Given the description of an element on the screen output the (x, y) to click on. 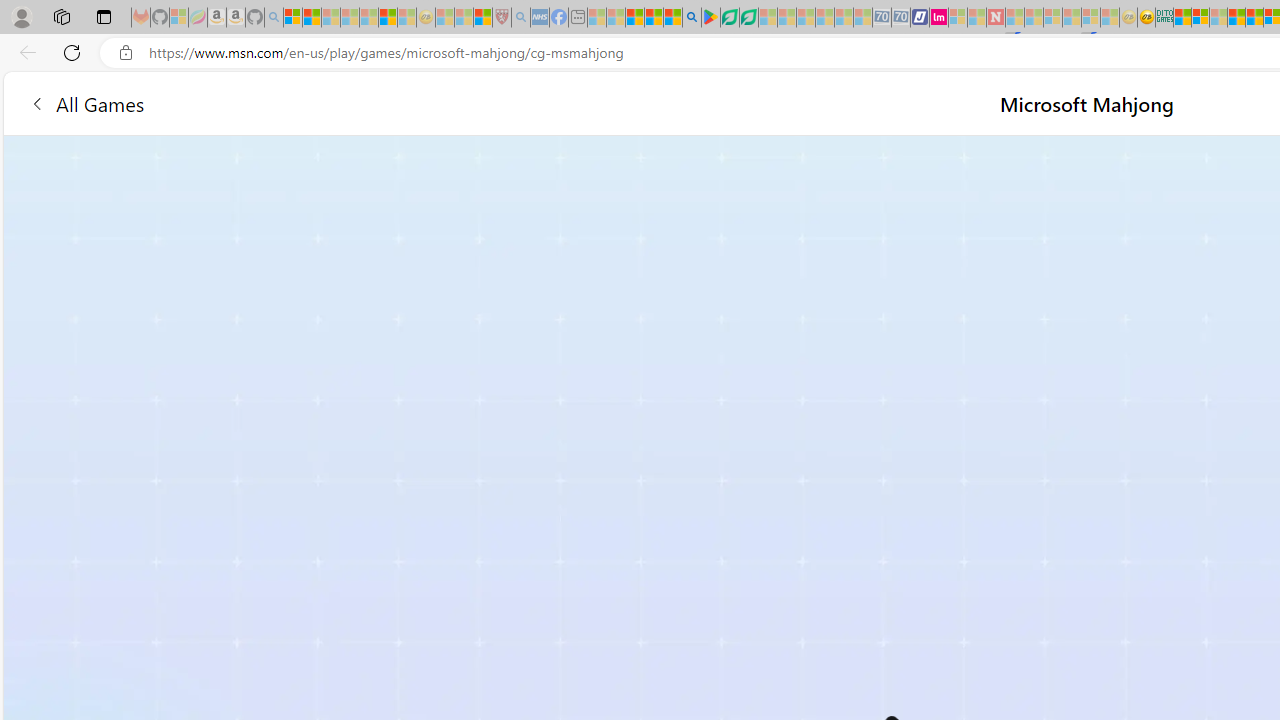
Local - MSN (482, 17)
Jobs - lastminute.com Investor Portal (939, 17)
Kinda Frugal - MSN (1254, 17)
